Given the description of an element on the screen output the (x, y) to click on. 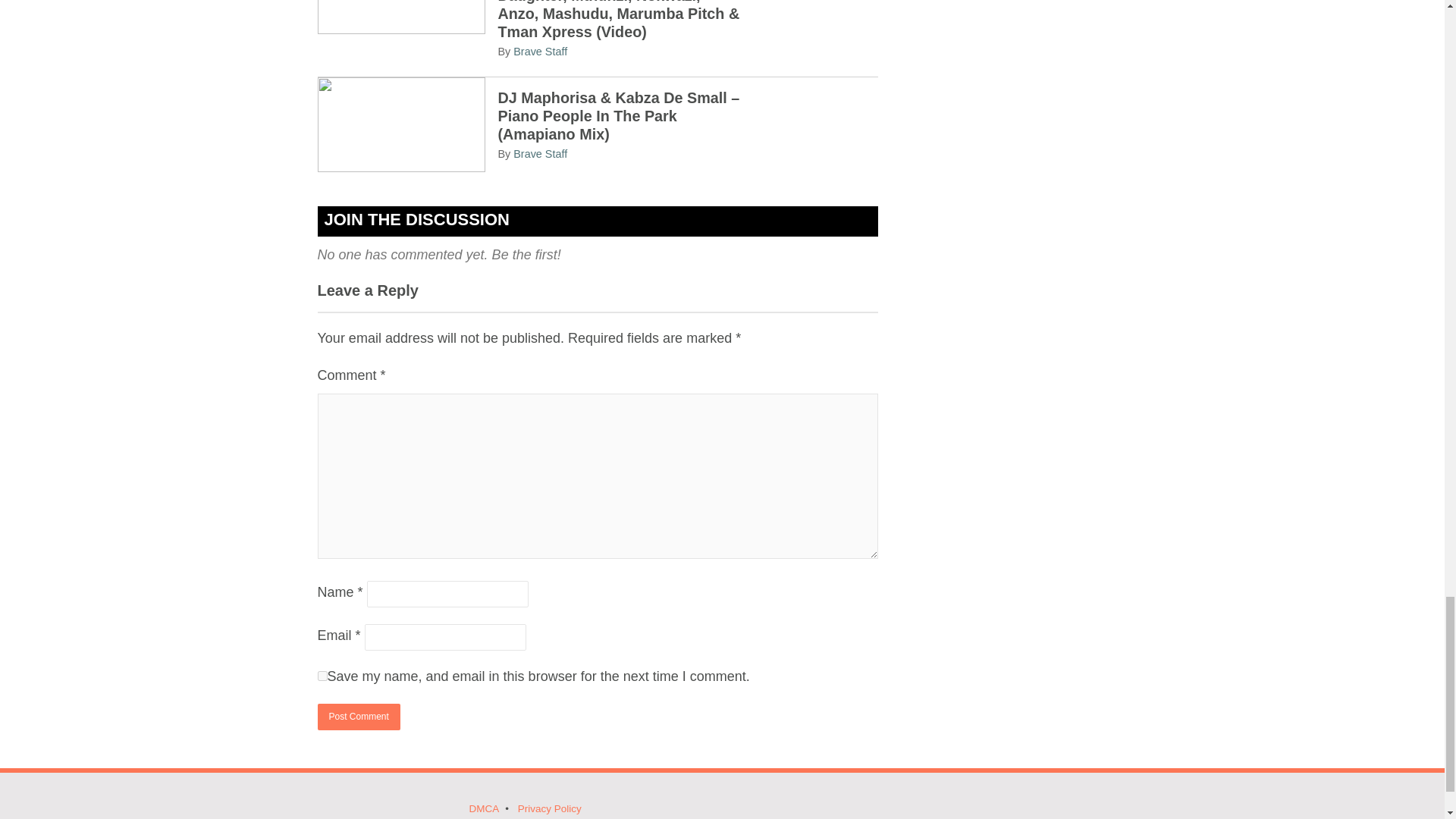
Posts by Brave Staff (540, 51)
Post Comment (357, 716)
yes (321, 675)
Posts by Brave Staff (540, 153)
